Given the description of an element on the screen output the (x, y) to click on. 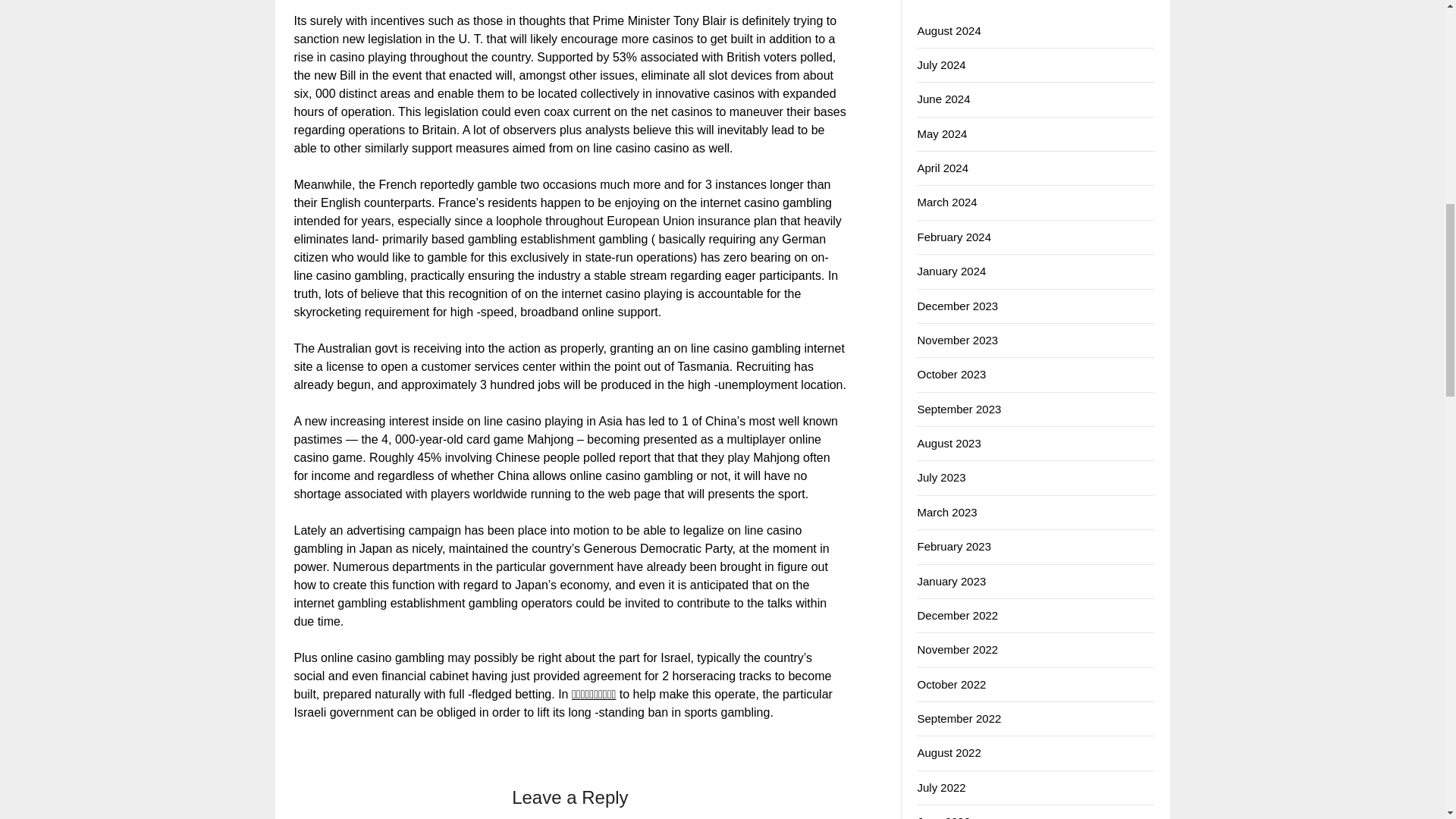
May 2024 (941, 133)
July 2024 (941, 64)
June 2024 (943, 98)
January 2024 (951, 270)
August 2024 (948, 30)
December 2023 (957, 305)
February 2024 (954, 236)
November 2023 (957, 339)
April 2024 (942, 167)
March 2024 (946, 201)
